Given the description of an element on the screen output the (x, y) to click on. 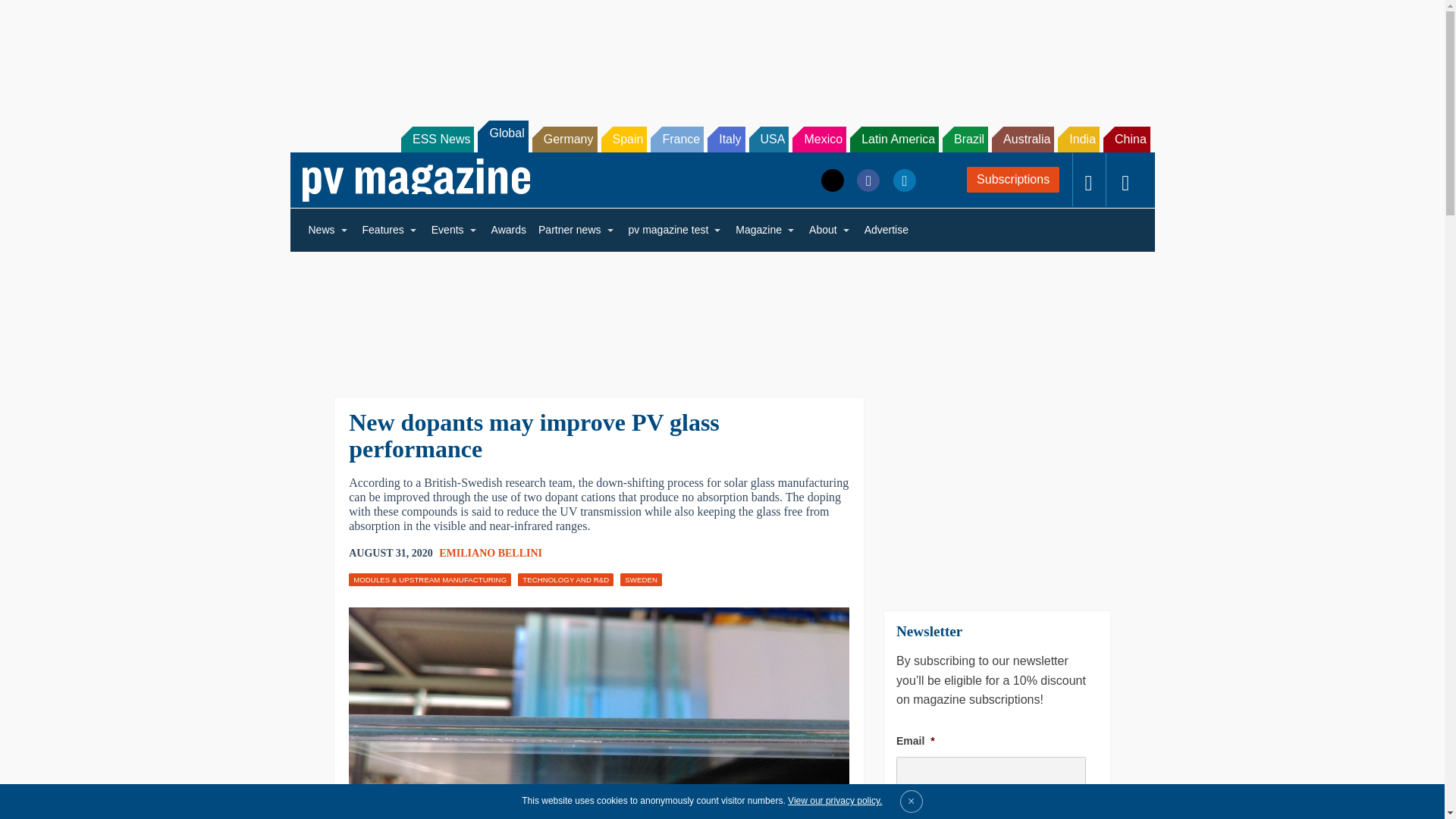
Posts by Emiliano Bellini (490, 552)
Subscriptions (1012, 179)
China (1126, 139)
Mexico (818, 139)
Global (502, 136)
USA (769, 139)
3rd party ad content (721, 314)
ESS News (437, 139)
3rd party ad content (721, 51)
pv magazine - Photovoltaics Markets and Technology (415, 180)
